Given the description of an element on the screen output the (x, y) to click on. 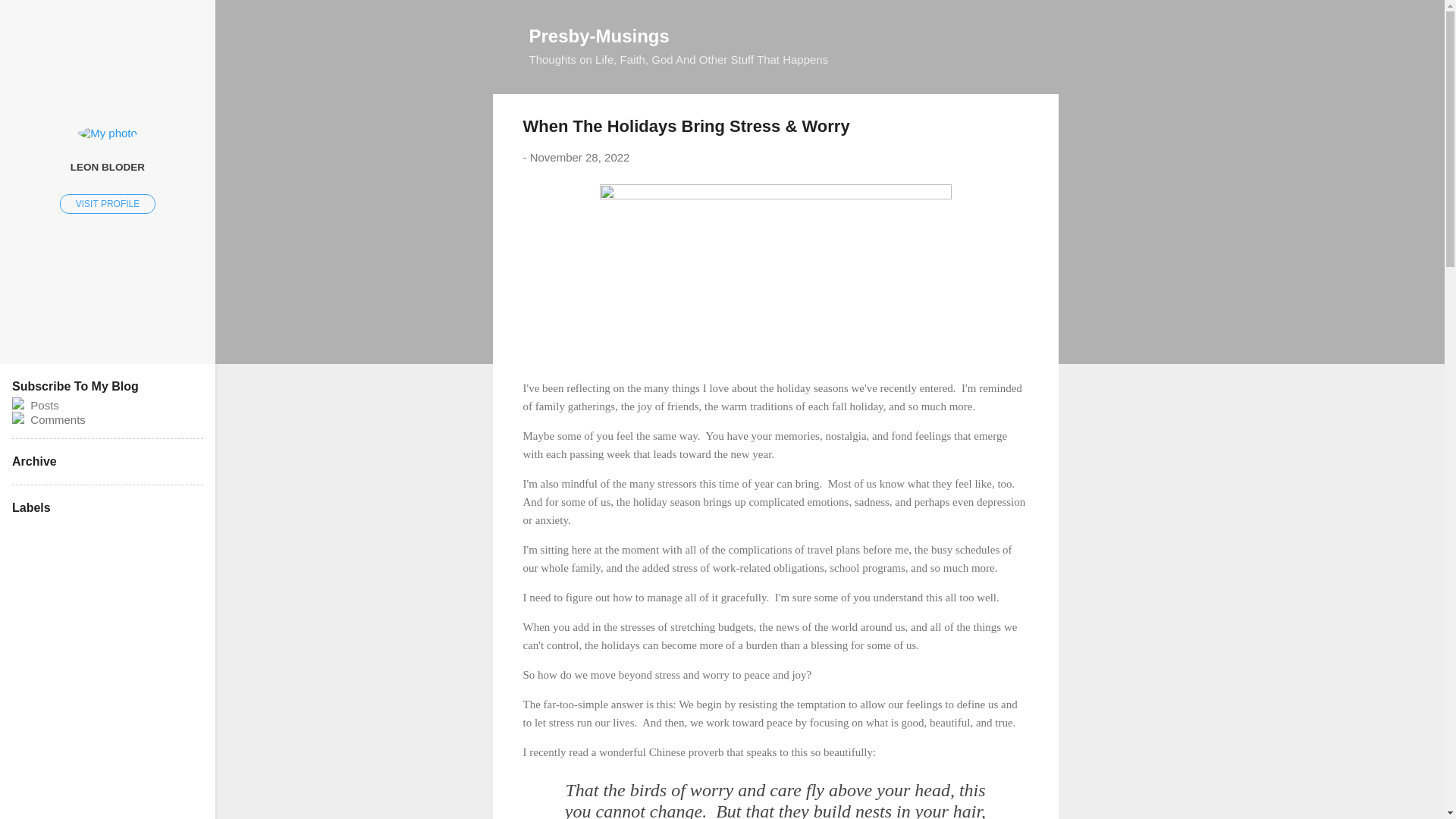
Advertisement (1118, 690)
LEON BLODER (107, 166)
Search (29, 18)
November 28, 2022 (579, 156)
VISIT PROFILE (107, 203)
Advertisement (1118, 321)
Presby-Musings (599, 35)
permanent link (579, 156)
